Given the description of an element on the screen output the (x, y) to click on. 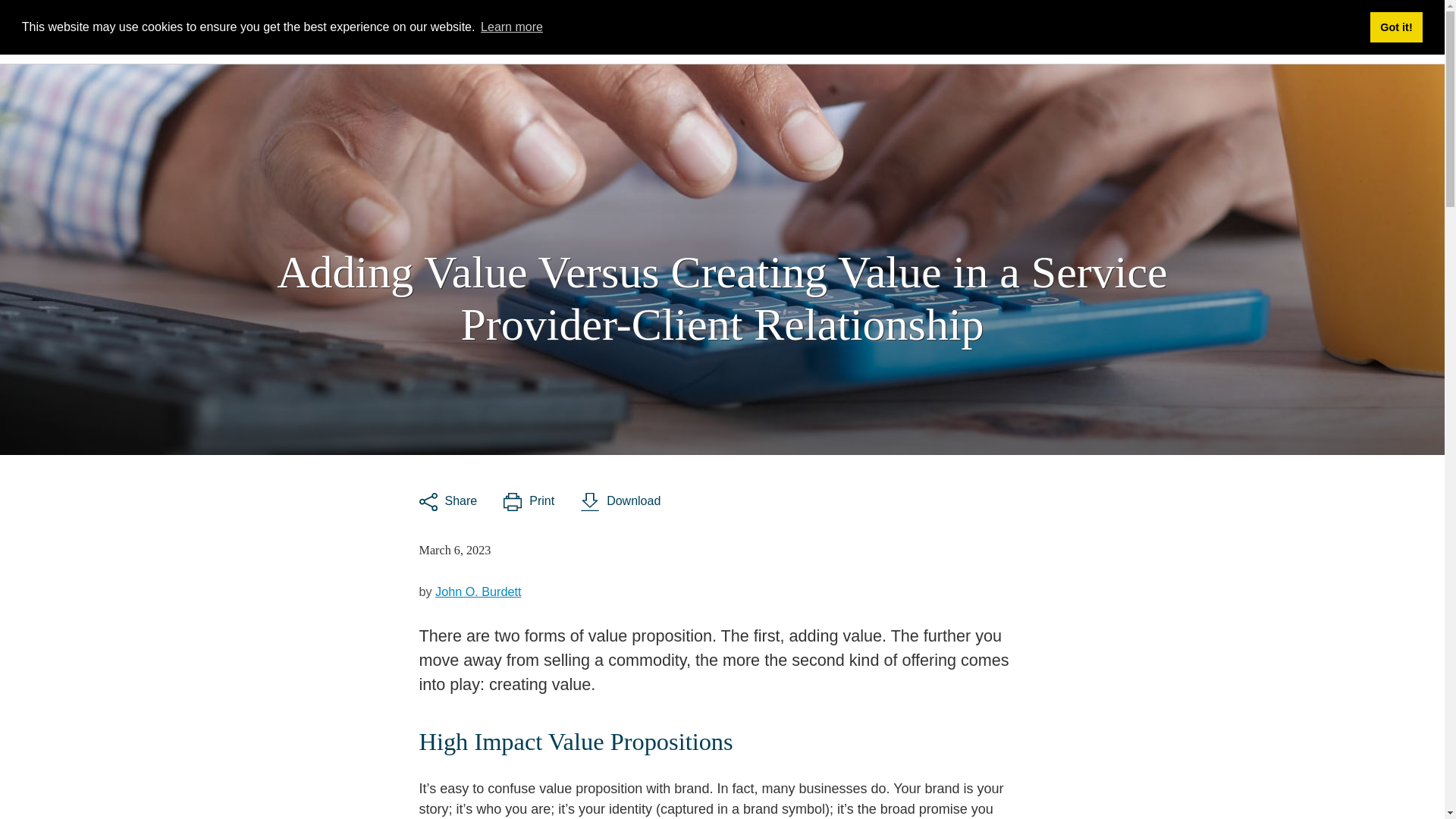
Leadership Insights (344, 28)
Search (472, 29)
Visit TRANSEARCH (575, 29)
Got it! (1396, 27)
John O. Burdett (478, 591)
Download (620, 502)
Learn more (511, 26)
Print (528, 502)
Share (448, 502)
